Given the description of an element on the screen output the (x, y) to click on. 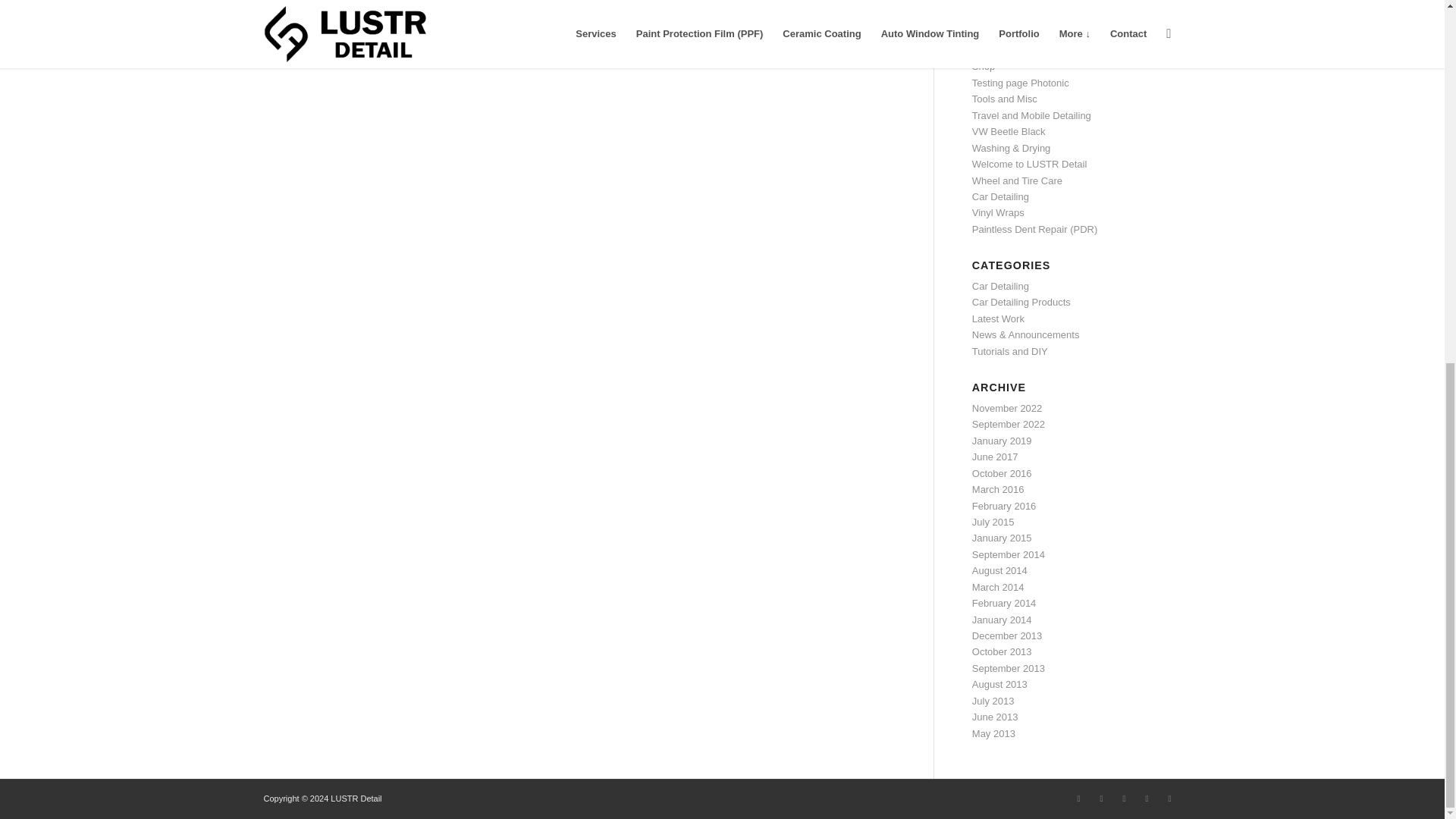
IVAN RAJIC (617, 38)
Facebook (1101, 798)
Instagram (1078, 798)
Posts by Ivan Rajic (617, 38)
Yelp (1146, 798)
Rss (1169, 798)
Youtube (1124, 798)
